Given the description of an element on the screen output the (x, y) to click on. 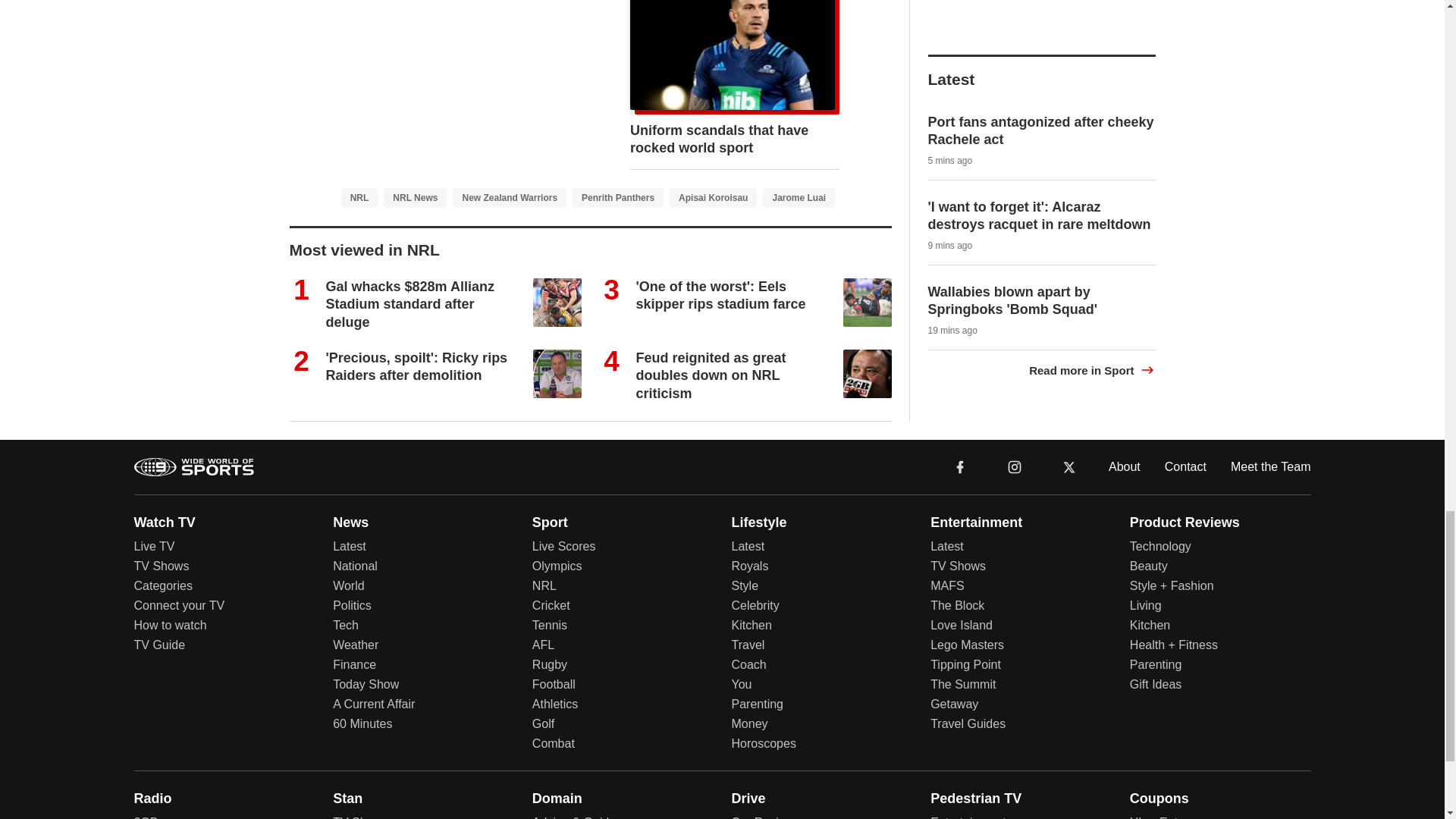
instagram (1014, 467)
facebook (959, 465)
instagram (1013, 465)
NRL (359, 198)
Apisai Koroisau (713, 198)
Uniform scandals that have rocked world sport (719, 138)
Jarome Luai (798, 198)
x (1069, 467)
facebook (960, 467)
New Zealand Warriors (509, 198)
